Given the description of an element on the screen output the (x, y) to click on. 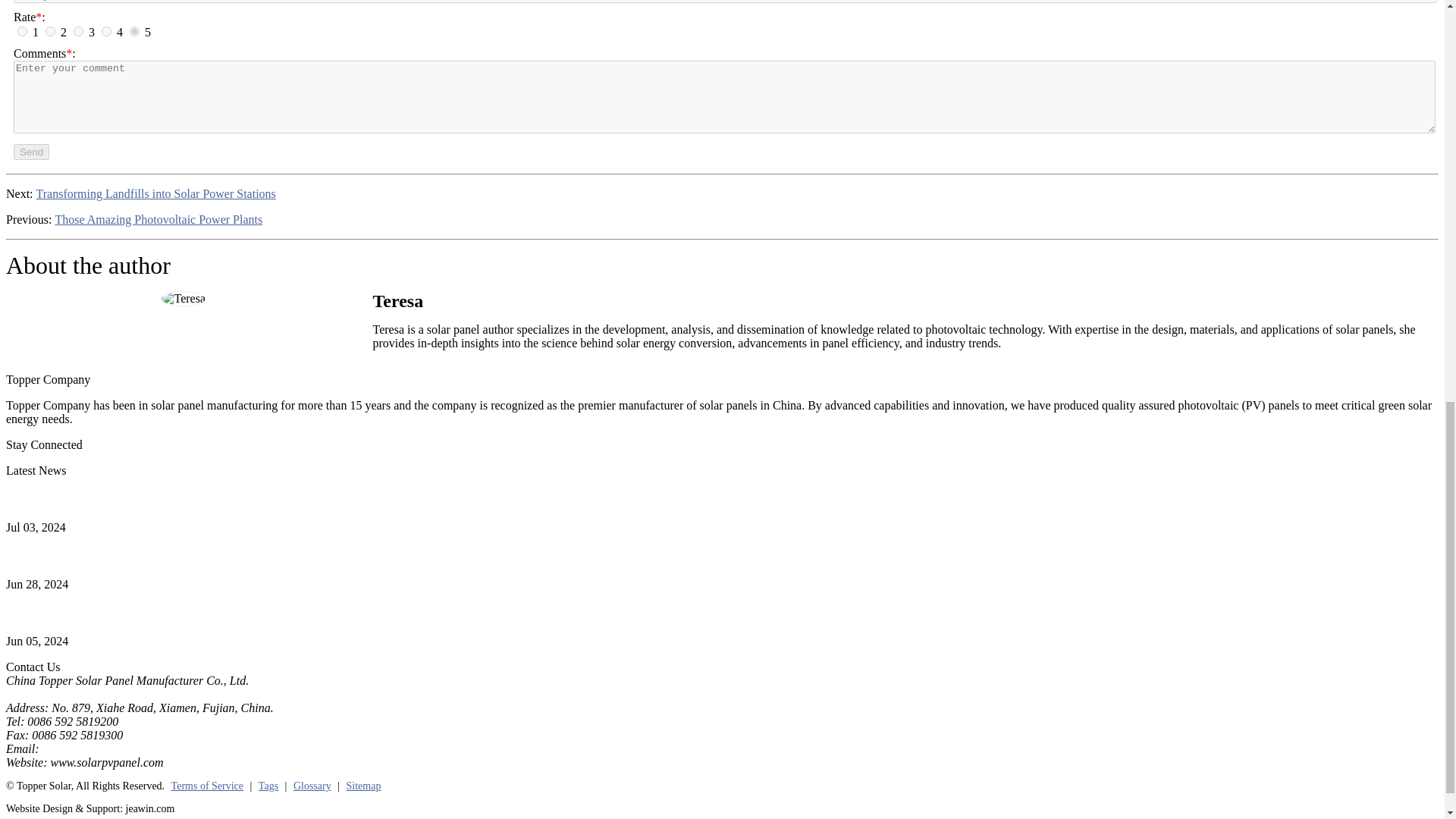
2 (50, 31)
Send (31, 151)
Traditional Energy Versus New Energy (100, 612)
Transforming Landfills into Solar Power Stations (156, 193)
Transforming Landfills into Solar Power Stations (156, 193)
3 (78, 31)
Those Amazing Photovoltaic Power Plants (158, 219)
Teresa (183, 298)
Those Amazing Photovoltaic Power Plants (158, 219)
Key Technologies Needed for Space Solar Power Stations (145, 498)
Tags (268, 786)
Photovoltaic Systems (57, 556)
Glossary (312, 786)
4 (106, 31)
Sitemap (363, 786)
